Given the description of an element on the screen output the (x, y) to click on. 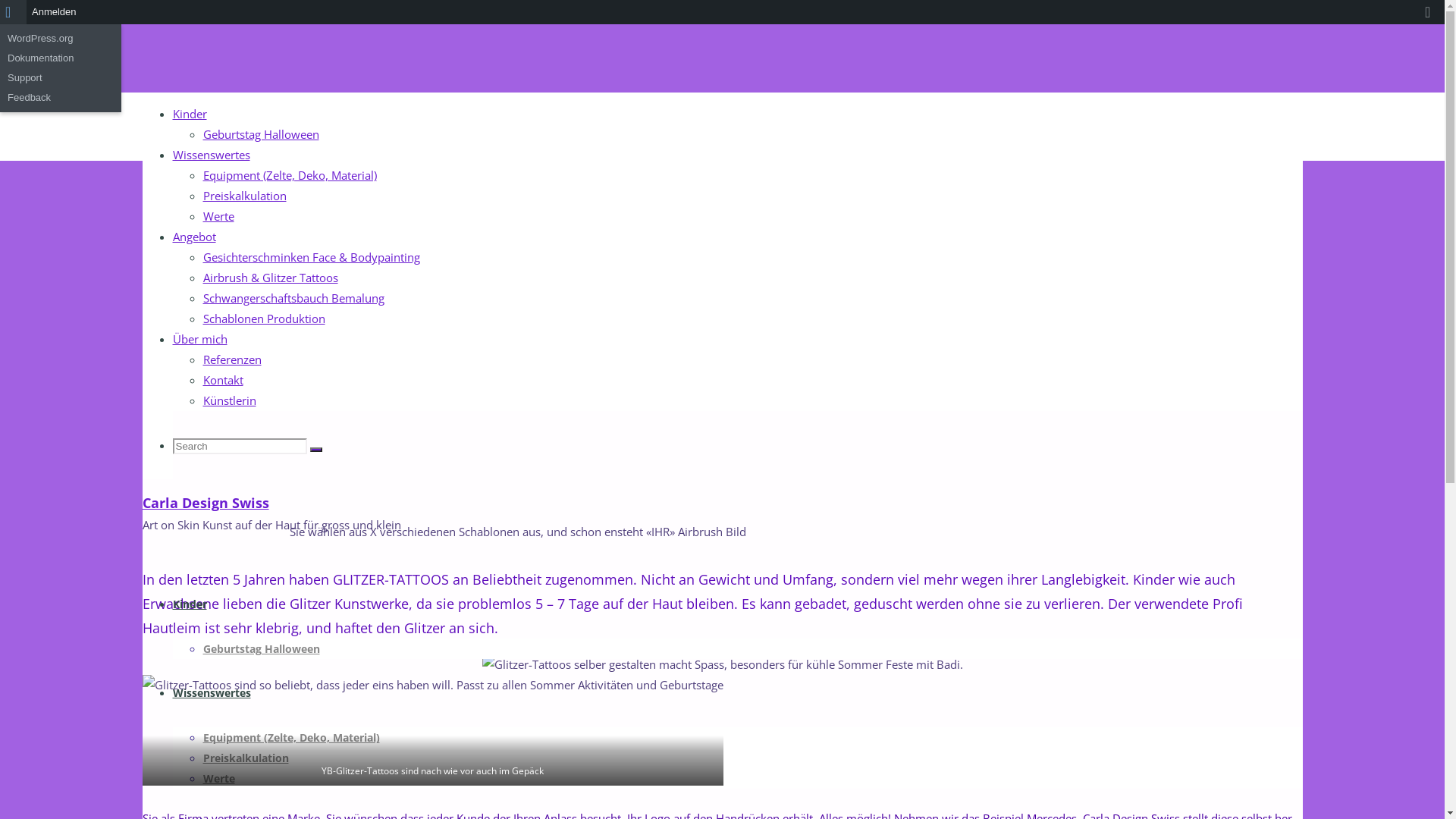
Support Element type: text (60, 77)
Carla Design Swiss Element type: text (205, 502)
Wissenswertes Element type: text (211, 154)
Angebot Element type: text (163, 102)
Equipment (Zelte, Deko, Material) Element type: text (291, 737)
Anmelden Element type: text (54, 12)
Preiskalkulation Element type: text (245, 758)
WordPress.org Element type: text (60, 38)
Schwangerschaftsbauch Bemalung Element type: text (293, 297)
Kinder Element type: text (189, 113)
Schablonen Produktion Element type: text (264, 318)
Werte Element type: text (218, 215)
Kontakt Element type: text (223, 379)
Equipment (Zelte, Deko, Material) Element type: text (289, 174)
Feedback Element type: text (60, 97)
Werte Element type: text (219, 778)
Gesichterschminken Face & Bodypainting Element type: text (311, 256)
Geburtstag Halloween Element type: text (261, 648)
Preiskalkulation Element type: text (244, 195)
Airbrush & Glitzer Tattoos Element type: text (270, 277)
Suchen Element type: text (18, 13)
Kinder Element type: text (189, 604)
Dokumentation Element type: text (60, 58)
Geburtstag Halloween Element type: text (261, 133)
Referenzen Element type: text (232, 359)
Search Element type: text (315, 449)
Angebot Element type: text (194, 236)
Wissenswertes Element type: text (211, 692)
